Given the description of an element on the screen output the (x, y) to click on. 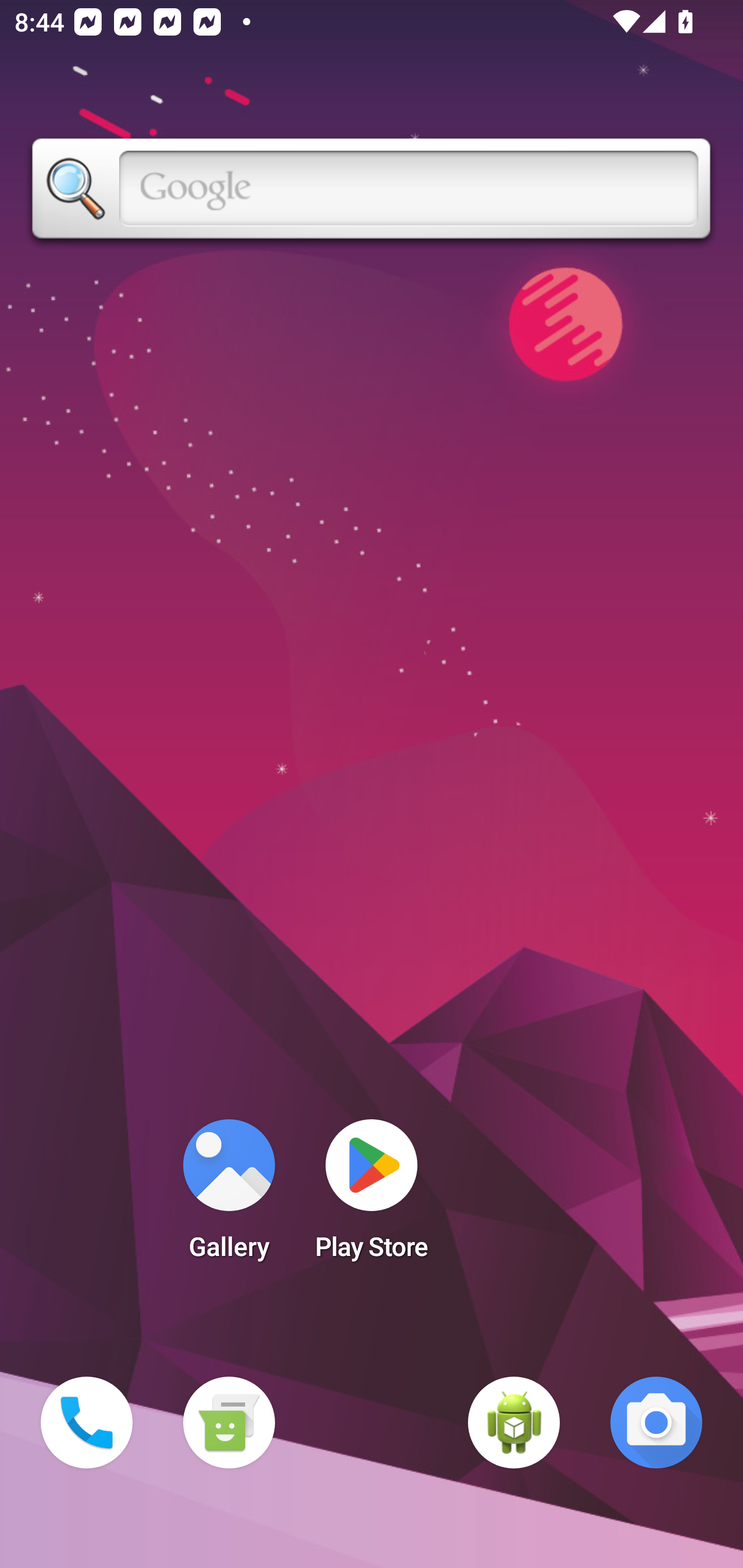
Gallery (228, 1195)
Play Store (371, 1195)
Phone (86, 1422)
Messaging (228, 1422)
WebView Browser Tester (513, 1422)
Camera (656, 1422)
